Given the description of an element on the screen output the (x, y) to click on. 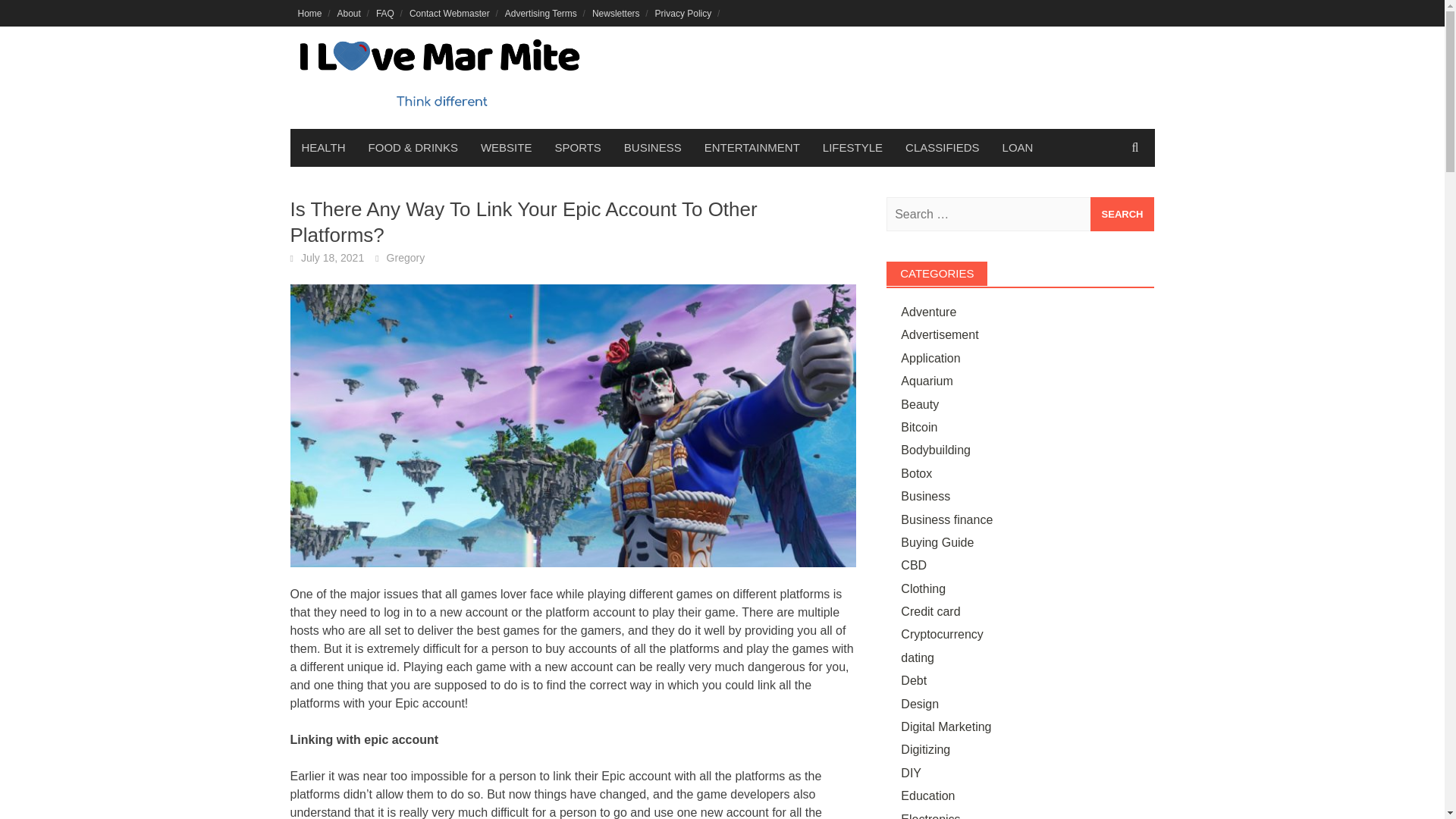
Search (1122, 213)
About (349, 13)
BUSINESS (652, 147)
July 18, 2021 (332, 257)
HEALTH (322, 147)
Advertising Terms (541, 13)
SPORTS (577, 147)
Privacy Policy (683, 13)
WEBSITE (505, 147)
CLASSIFIEDS (942, 147)
Search (1122, 213)
Gregory (406, 257)
Contact Webmaster (449, 13)
LIFESTYLE (851, 147)
LOAN (1018, 147)
